Given the description of an element on the screen output the (x, y) to click on. 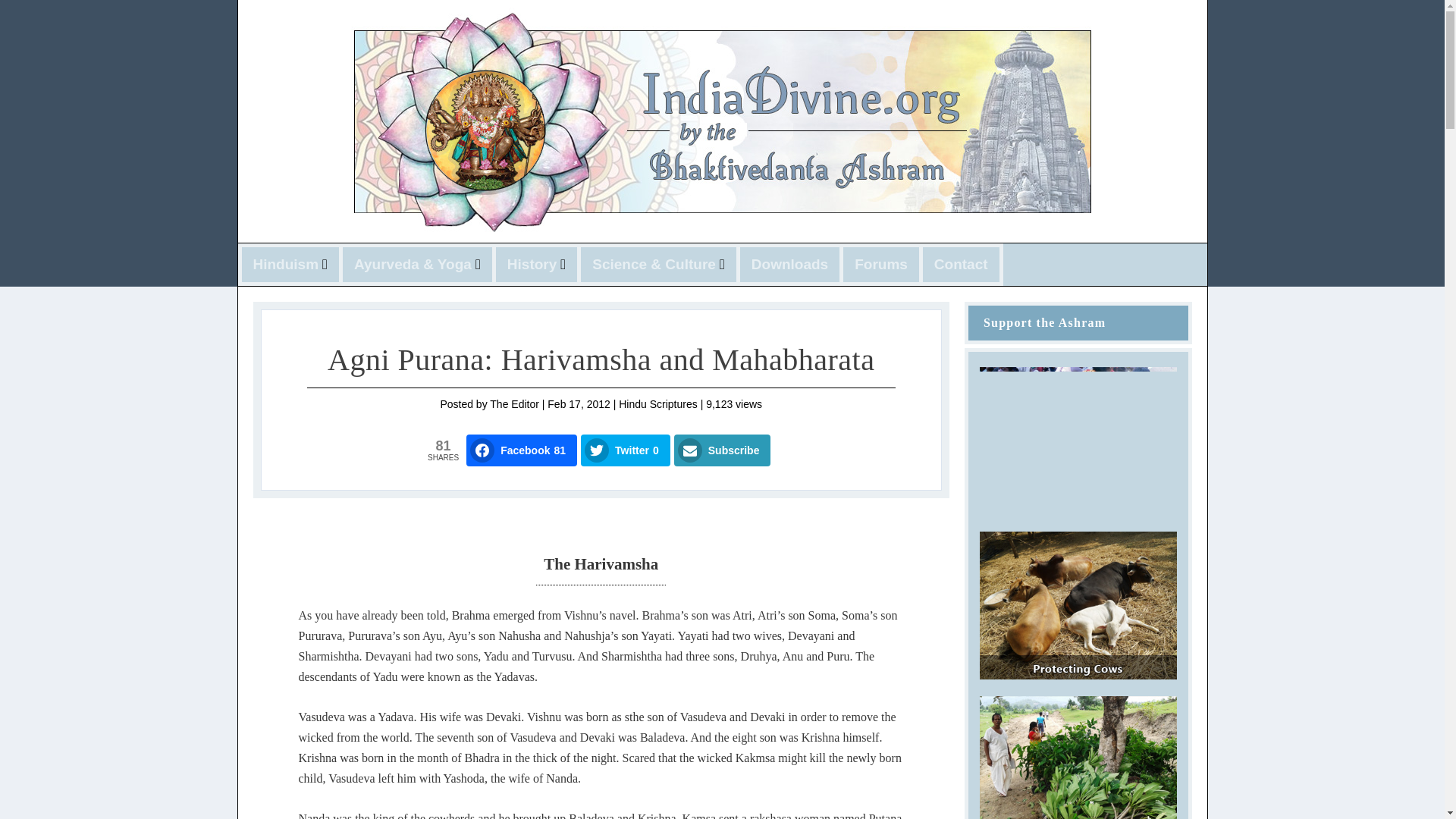
History (536, 264)
Facebook81 (520, 450)
Forums (880, 264)
Hindu Scriptures (657, 404)
The Editor (513, 404)
Subscribe (722, 450)
Share on Facebook (520, 450)
Downloads (789, 264)
Twitter0 (624, 450)
Hinduism (291, 264)
Posts by The Editor (513, 404)
Share on Subscribe (722, 450)
Share on Twitter (624, 450)
Contact (961, 264)
